Given the description of an element on the screen output the (x, y) to click on. 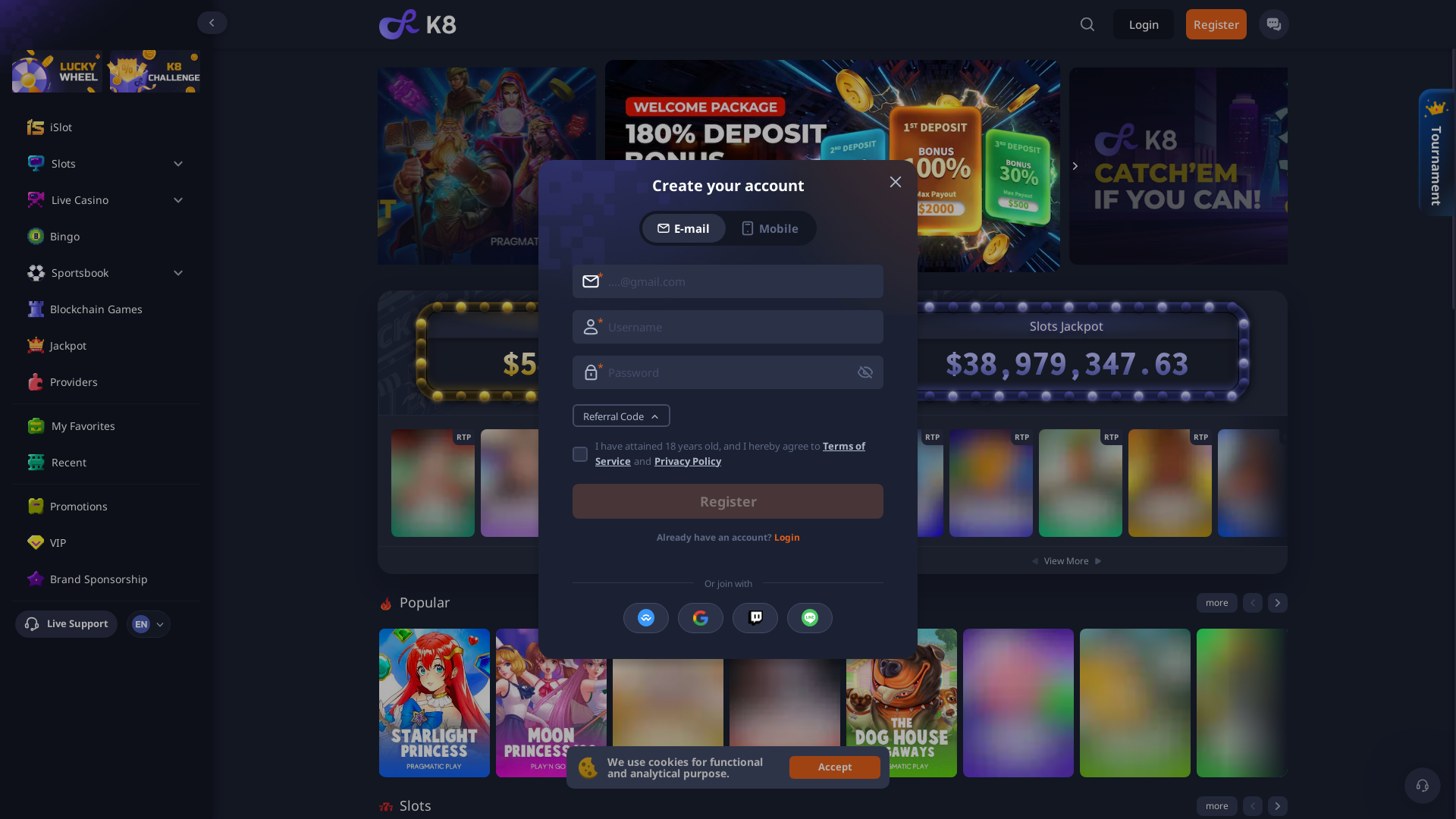
iSlot Element type: text (117, 127)
Drop'EM Element type: hover (1134, 702)
Blockchain Games Element type: text (117, 309)
Register Element type: text (1216, 24)
Rise of Olympus 100 Element type: hover (667, 702)
next Element type: hover (1277, 805)
more Element type: text (1216, 607)
xWays Hoarder xSplit DX1 Element type: hover (1251, 702)
Starlight Princess Element type: hover (434, 707)
Promotions Element type: text (117, 506)
next Element type: hover (1277, 607)
Brand Sponsorship Element type: text (117, 579)
Rich Wilde and the Tome of Madness Element type: hover (784, 702)
VIP Element type: text (117, 542)
Providers Element type: text (117, 382)
Rise of Olympus 100 Element type: hover (667, 707)
Login Element type: text (1143, 24)
Sweet Bonanza Xmas Element type: hover (1018, 702)
Jackpot Element type: text (117, 345)
Bingo Element type: text (117, 236)
previous Element type: hover (1251, 607)
Moon Princess 100 Element type: hover (550, 707)
previous Element type: hover (1251, 805)
The Dog House Megaways Element type: hover (901, 702)
